Given the description of an element on the screen output the (x, y) to click on. 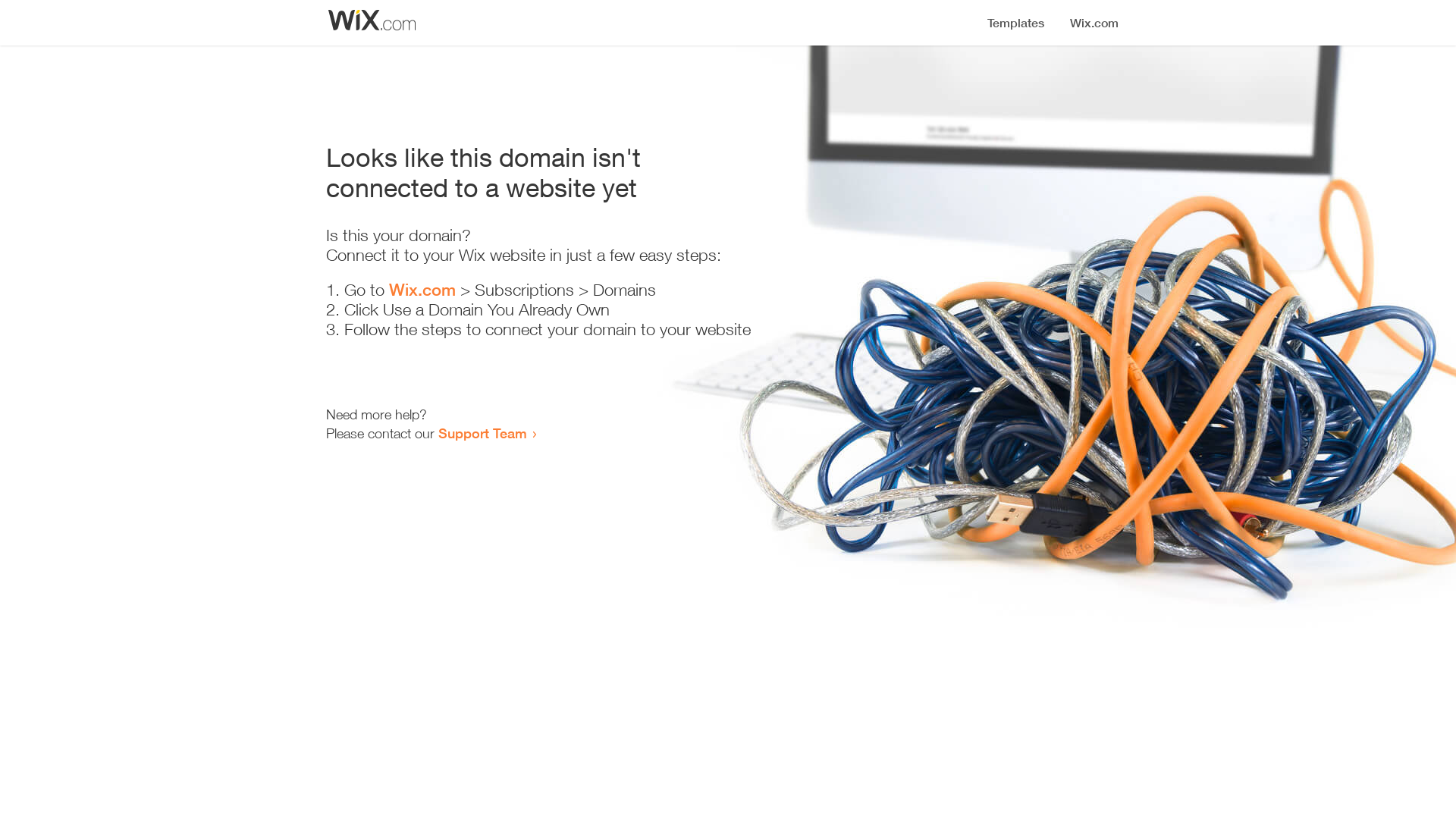
Support Team Element type: text (482, 432)
Wix.com Element type: text (422, 289)
